Given the description of an element on the screen output the (x, y) to click on. 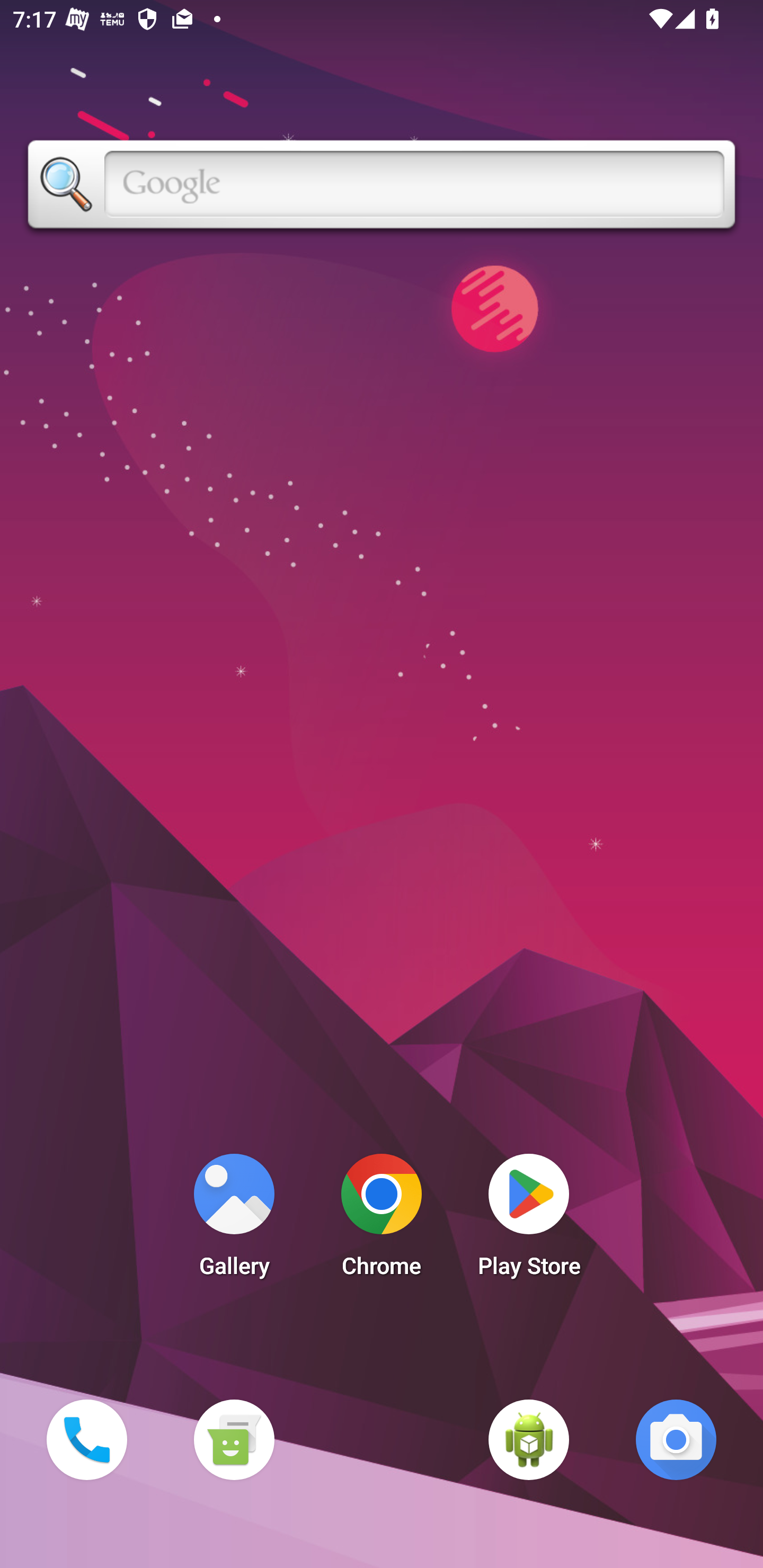
Gallery (233, 1220)
Chrome (381, 1220)
Play Store (528, 1220)
Phone (86, 1439)
Messaging (233, 1439)
WebView Browser Tester (528, 1439)
Camera (676, 1439)
